Given the description of an element on the screen output the (x, y) to click on. 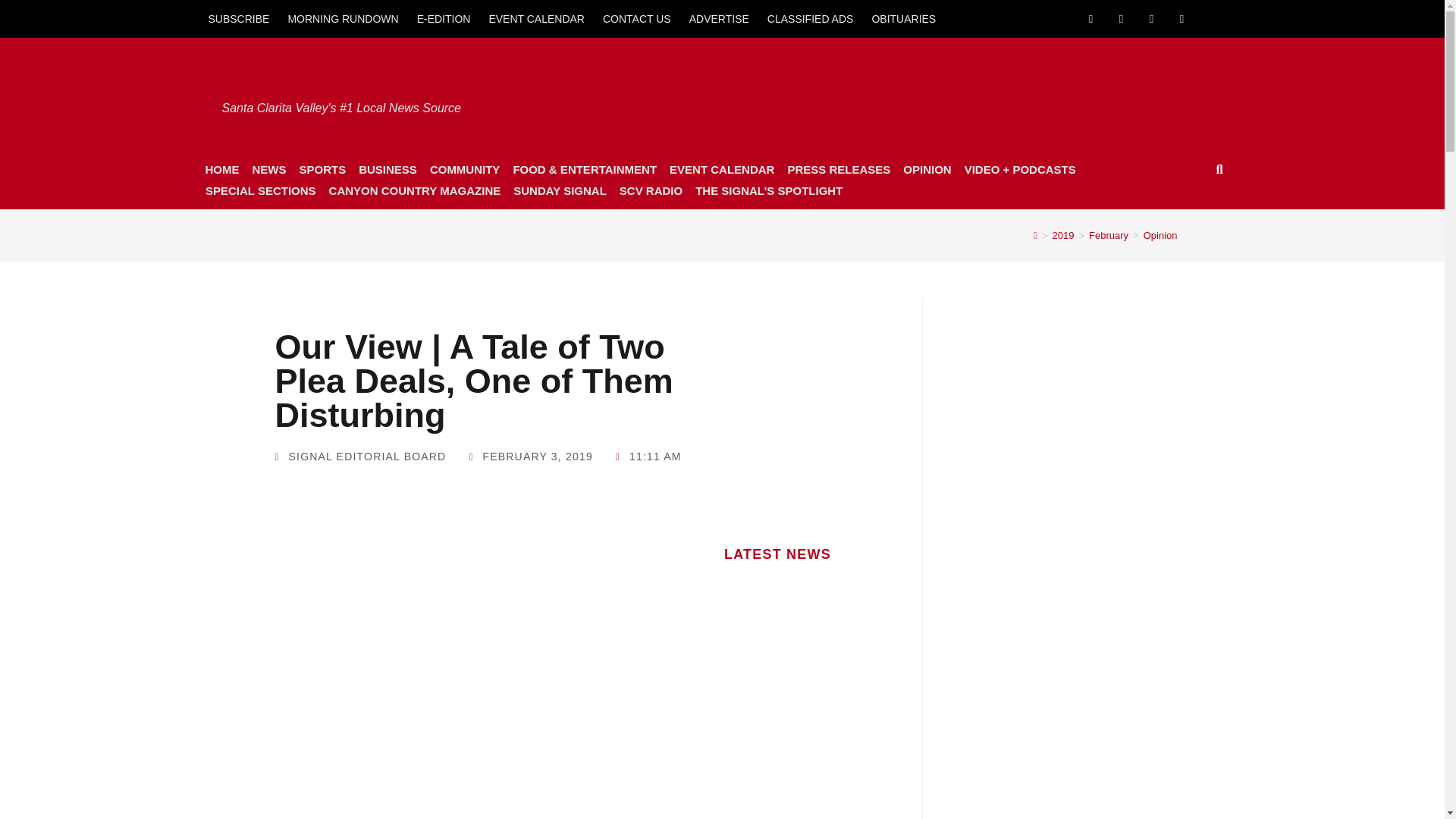
MORNING RUNDOWN (342, 18)
HOME (221, 169)
ADVERTISE (718, 18)
NEWS (269, 169)
CONTACT US (636, 18)
SPORTS (322, 169)
EVENT CALENDAR (536, 18)
OBITUARIES (902, 18)
E-EDITION (443, 18)
CLASSIFIED ADS (810, 18)
